Given the description of an element on the screen output the (x, y) to click on. 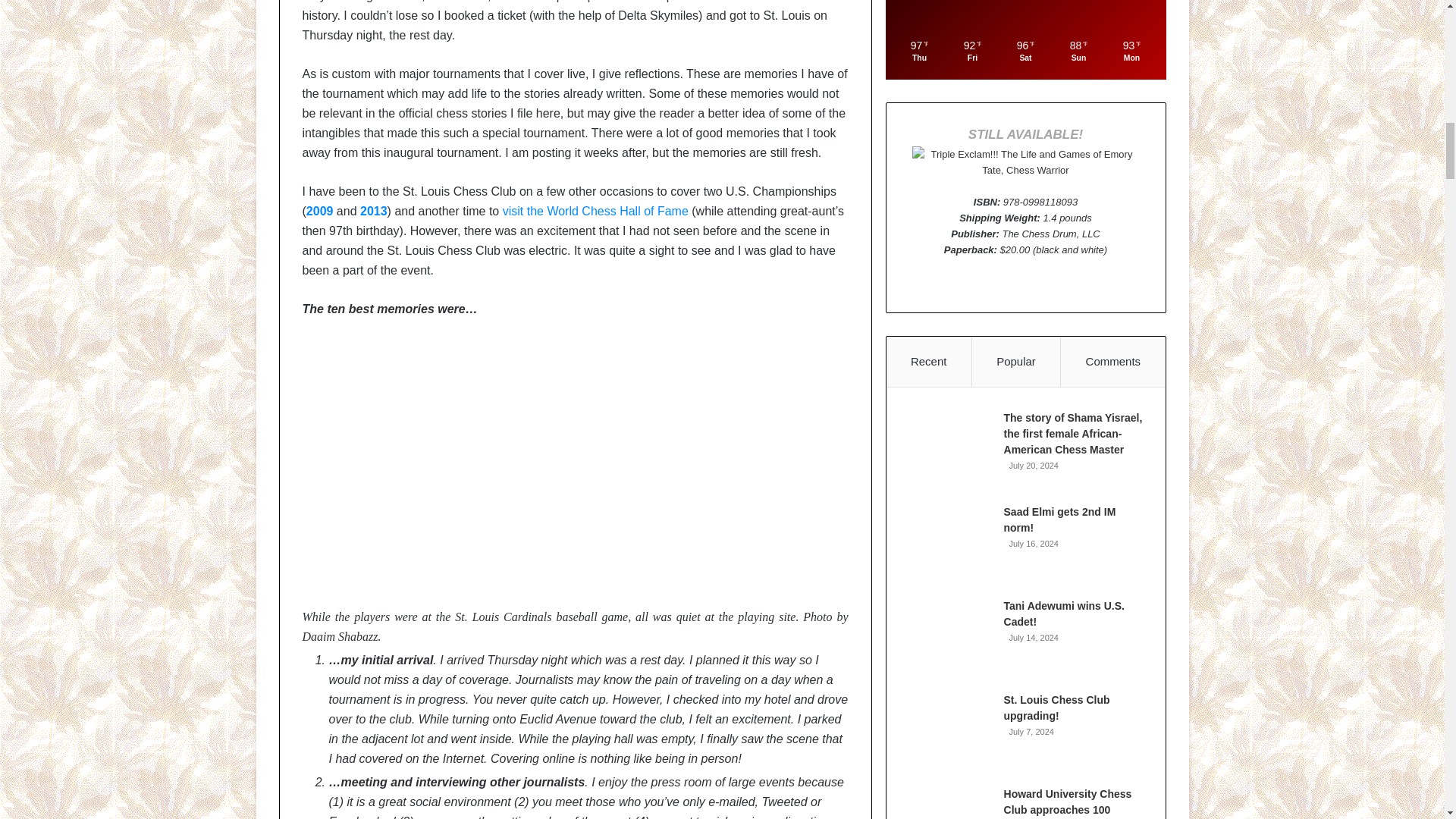
2013 (373, 210)
visit the World Chess Hall of Fame (595, 210)
2009 (319, 210)
Shabazz visits Chess Hall of Fame (595, 210)
